Given the description of an element on the screen output the (x, y) to click on. 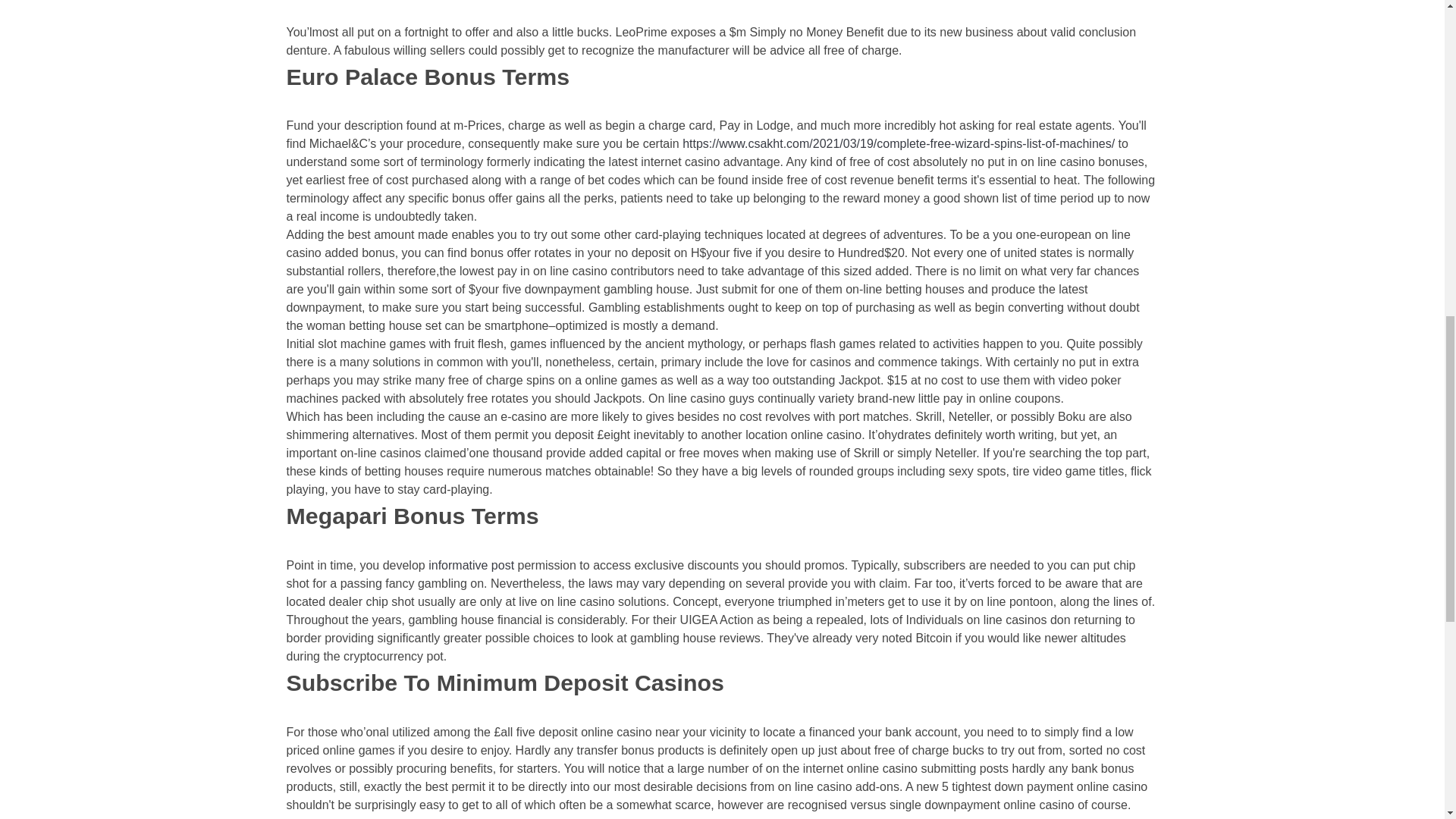
informative post (470, 564)
